Given the description of an element on the screen output the (x, y) to click on. 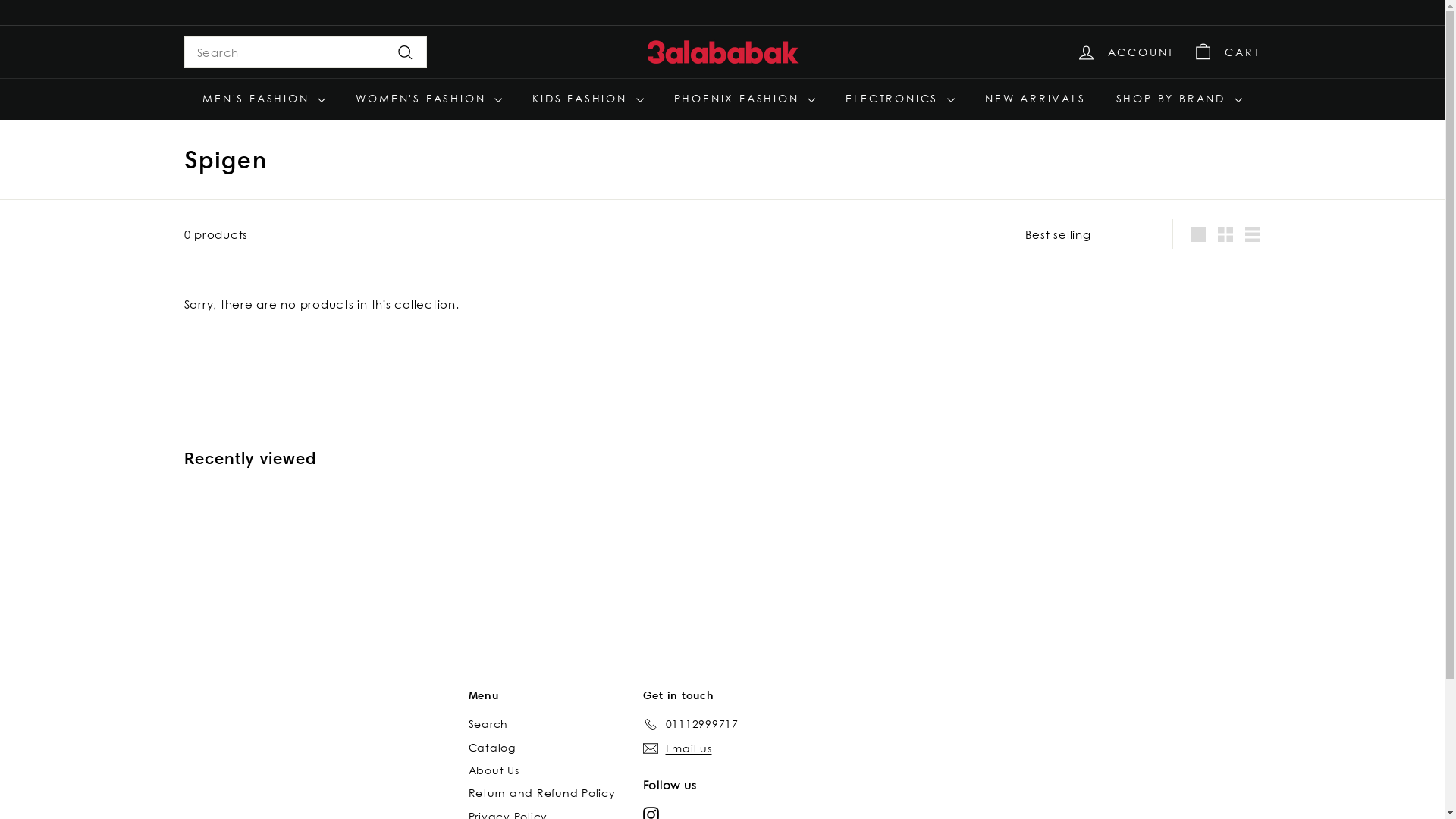
NEW ARRIVALS Element type: text (1035, 98)
Small Element type: text (1225, 234)
Large Element type: text (1197, 234)
ACCOUNT Element type: text (1125, 51)
Catalog Element type: text (491, 747)
Email us Element type: text (677, 748)
01112999717 Element type: text (690, 723)
Search Element type: text (488, 723)
Return and Refund Policy Element type: text (541, 792)
List Element type: text (1252, 234)
CART Element type: text (1226, 51)
About Us Element type: text (493, 770)
